Given the description of an element on the screen output the (x, y) to click on. 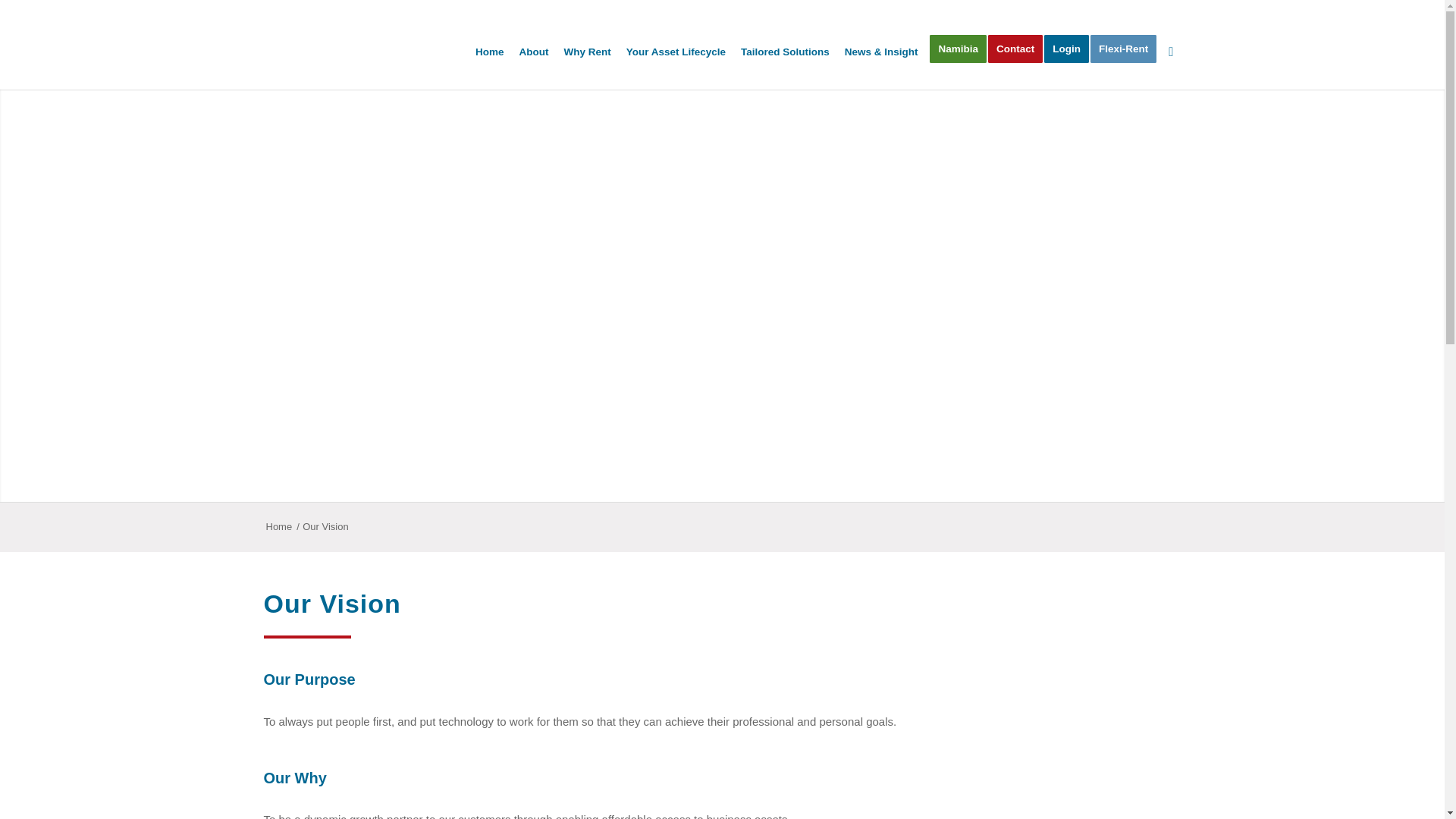
RentWorks (279, 527)
Your Asset Lifecycle (675, 44)
Tailored Solutions (785, 44)
